Given the description of an element on the screen output the (x, y) to click on. 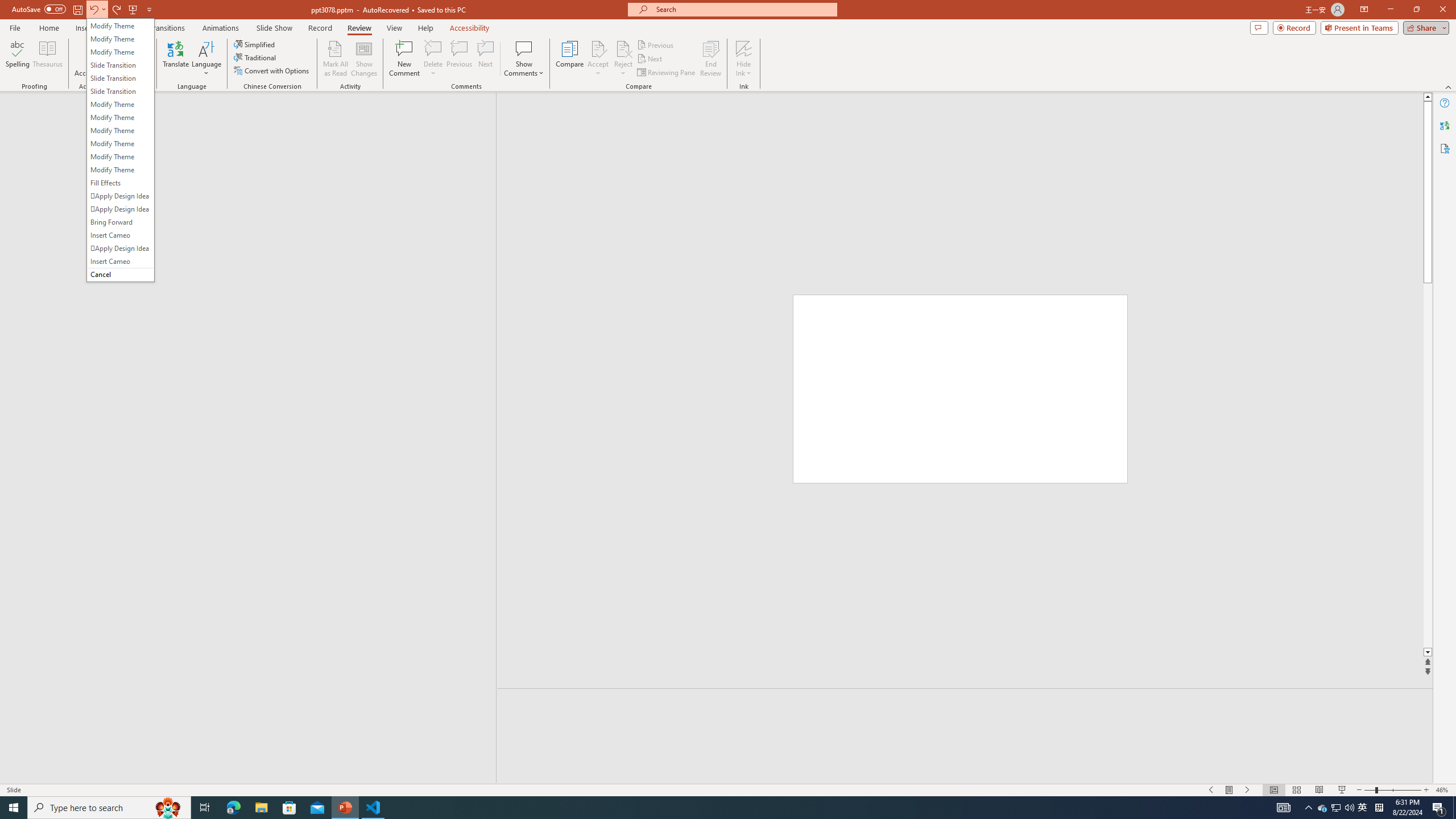
Reject (622, 58)
Running applications (700, 807)
PowerPoint - 1 running window (345, 807)
Show Comments (524, 48)
Menu On (1229, 790)
Microsoft Edge (233, 807)
Traditional (255, 56)
User Promoted Notification Area (1336, 807)
Start (13, 807)
Slide Show Next On (1247, 790)
Compare (569, 58)
